Given the description of an element on the screen output the (x, y) to click on. 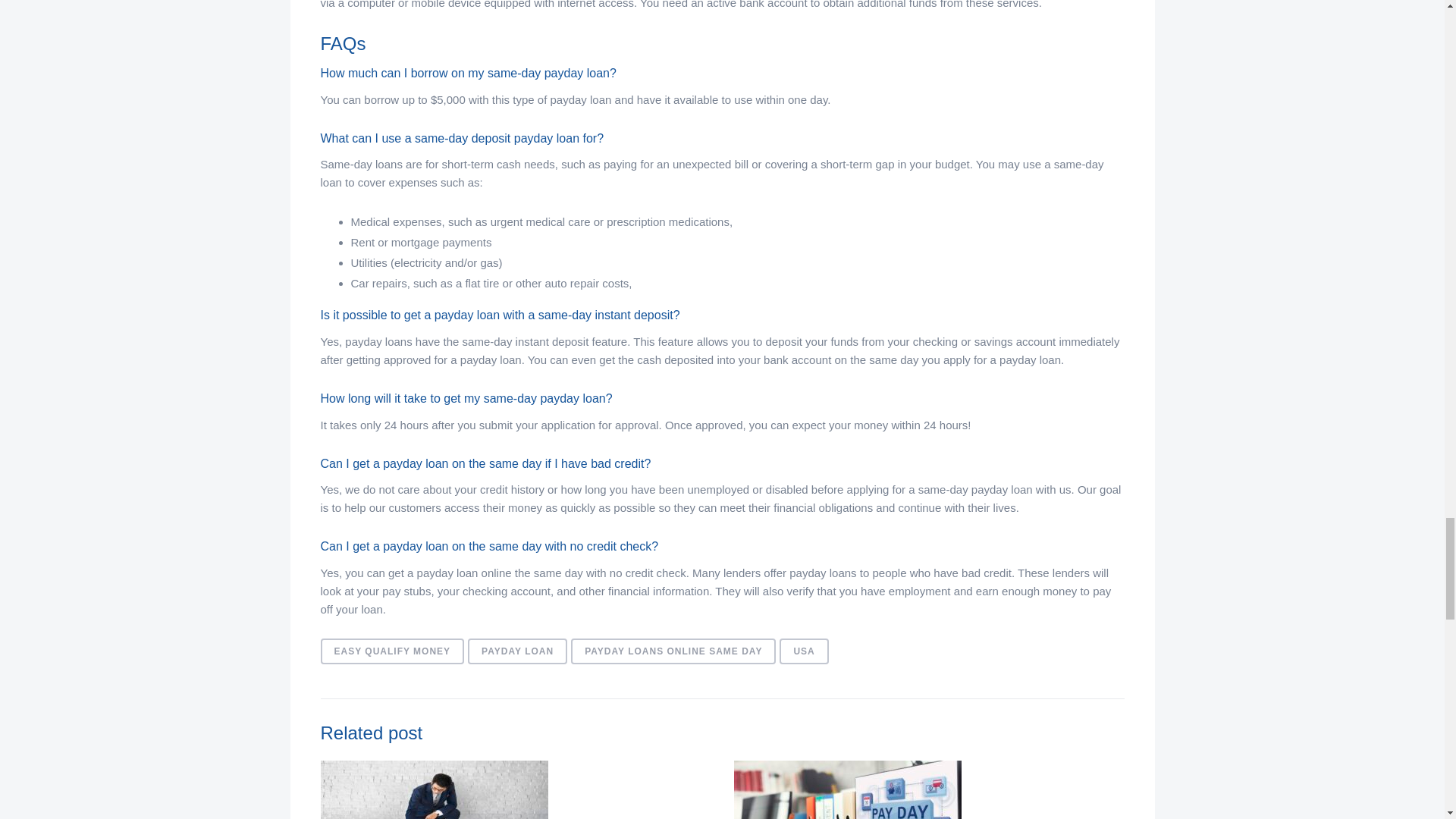
PAYDAY LOANS ONLINE SAME DAY (673, 651)
USA (803, 651)
PAYDAY LOAN (517, 651)
EASY QUALIFY MONEY (392, 651)
